Given the description of an element on the screen output the (x, y) to click on. 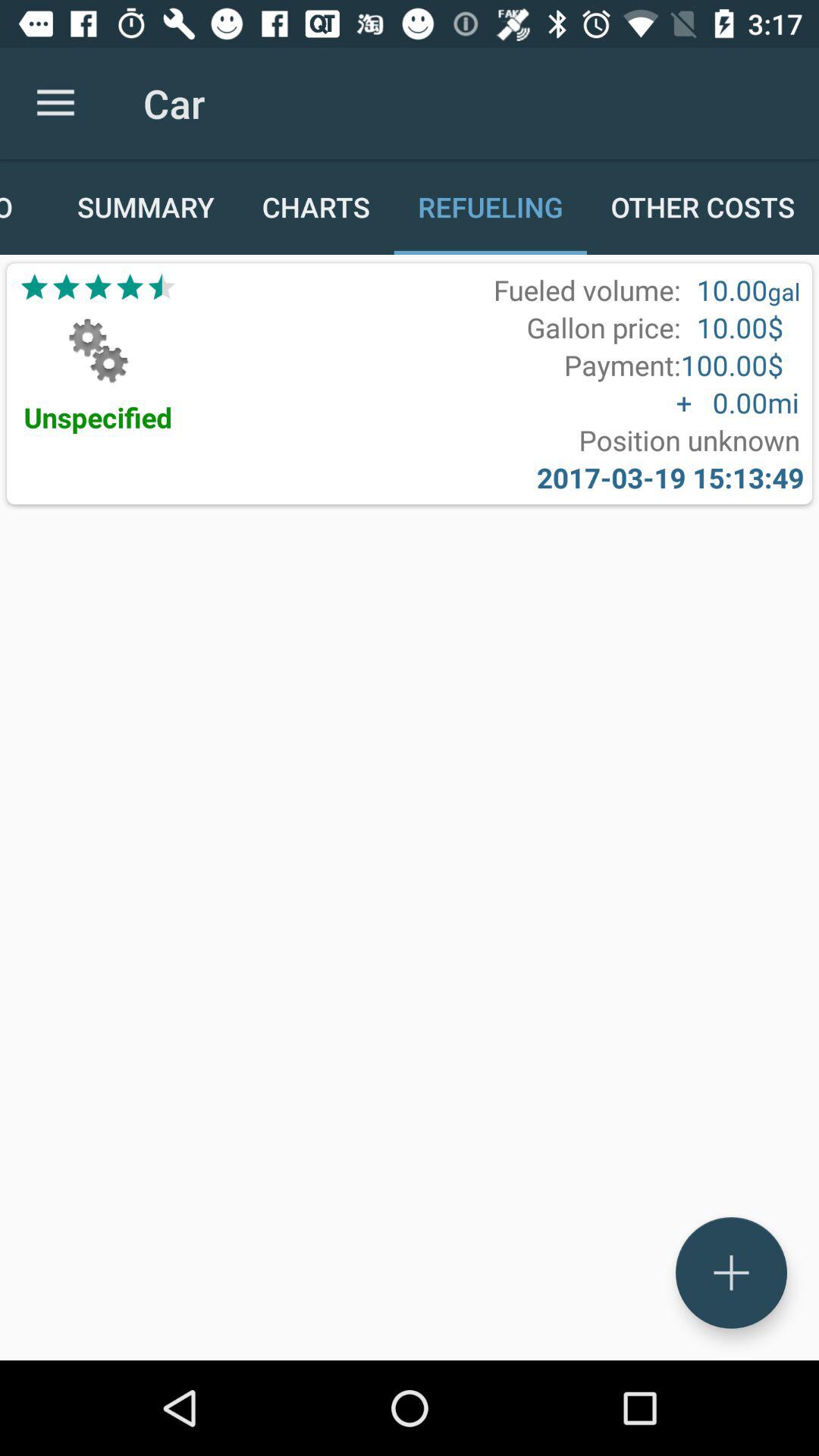
the option will point add something (731, 1272)
